Given the description of an element on the screen output the (x, y) to click on. 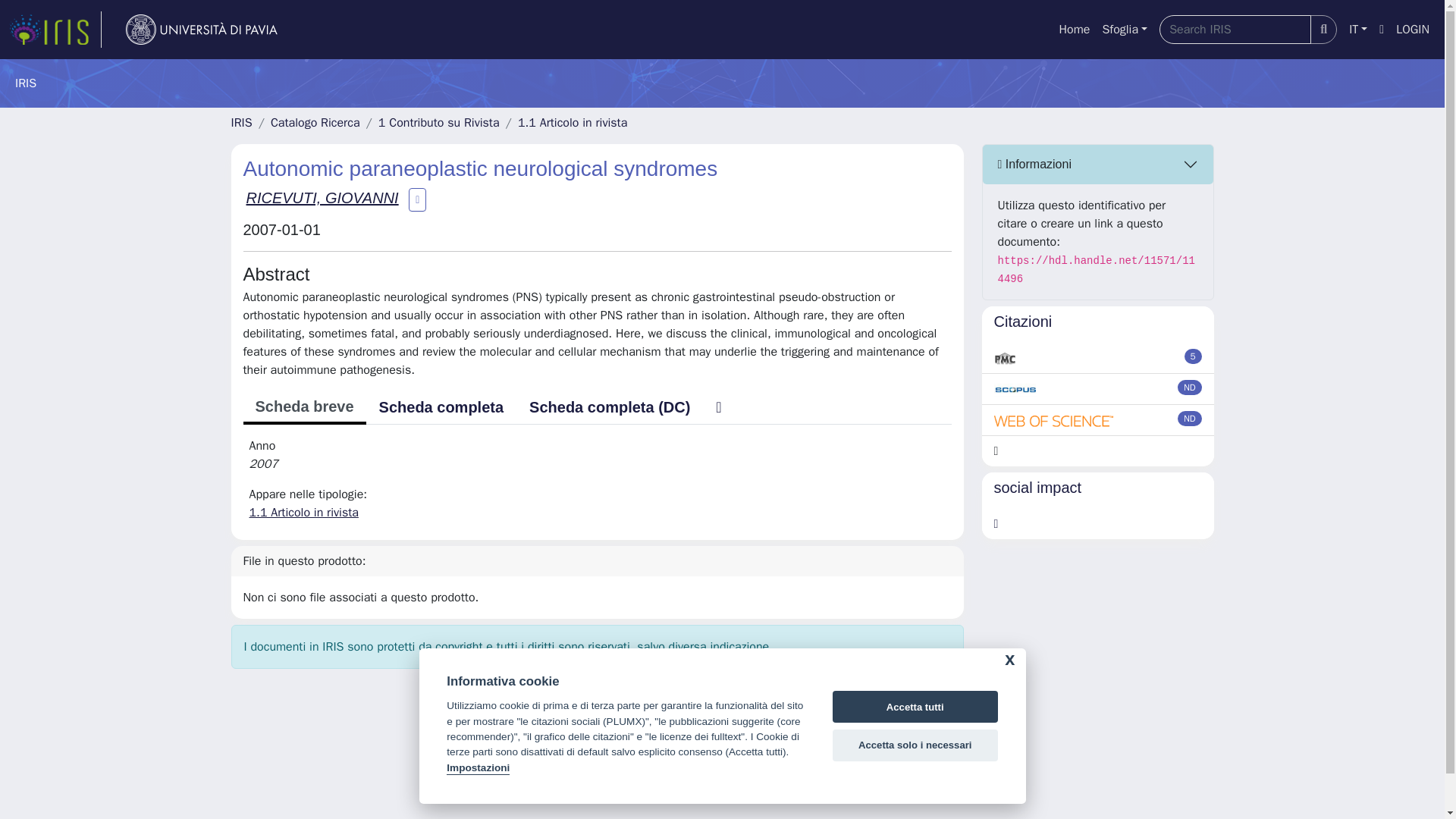
Catalogo Ricerca (314, 122)
1.1 Articolo in rivista (572, 122)
aggiornato in data 07-07-2022 05:29 (1193, 355)
Sfoglia (1124, 29)
RICEVUTI, GIOVANNI (321, 197)
IT (1357, 29)
IRIS (240, 122)
Scheda breve (304, 408)
Scheda completa (441, 407)
 Informazioni (1097, 164)
